Given the description of an element on the screen output the (x, y) to click on. 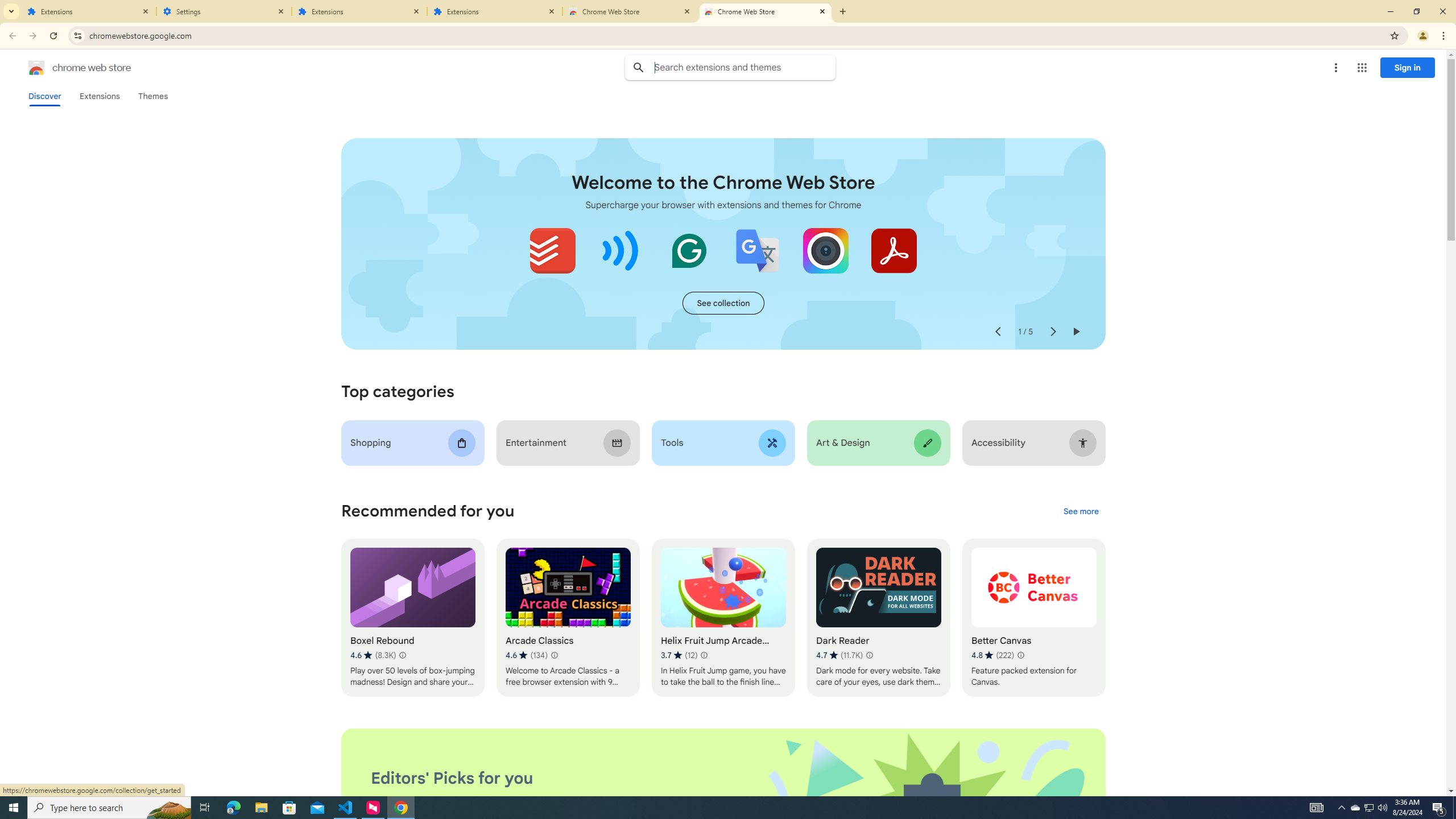
See more of the "Extensions starter kit" collection (722, 303)
Extensions (494, 11)
Chrome Web Store (630, 11)
Average rating 3.7 out of 5 stars. 12 ratings. (679, 655)
Learn more about results and reviews "Dark Reader" (869, 655)
Resume auto-play (1075, 331)
Better Canvas (1033, 617)
Grammarly: AI Writing and Grammar Checker App (689, 250)
Helix Fruit Jump Arcade Game (722, 617)
Settings (224, 11)
Adobe Acrobat: PDF edit, convert, sign tools (893, 250)
